Given the description of an element on the screen output the (x, y) to click on. 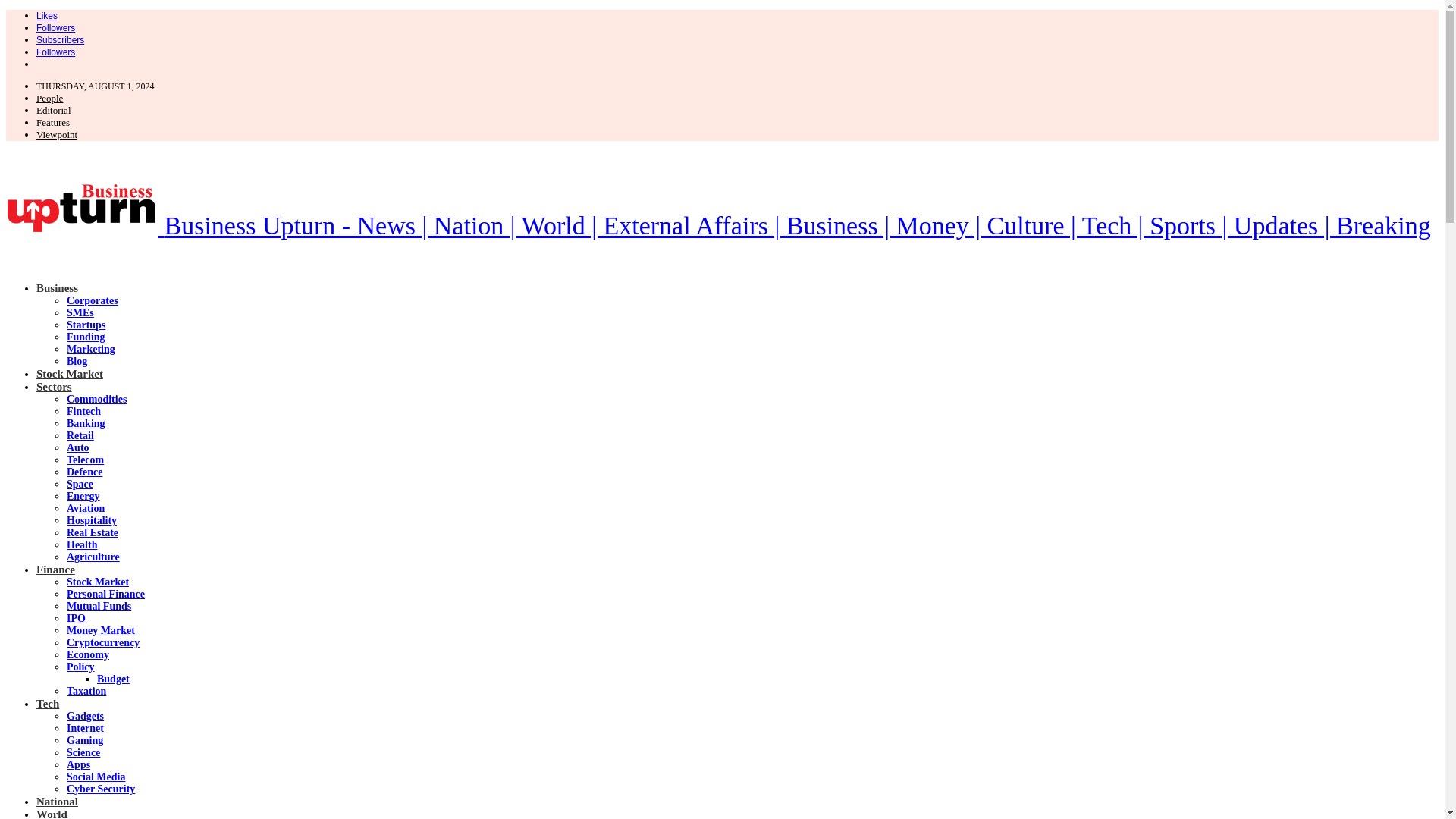
IPO (75, 618)
Energy (83, 496)
Corporates (91, 300)
Defence (83, 471)
Cryptocurrency (102, 642)
Retail (80, 435)
Funding (85, 337)
Health (81, 544)
Mutual Funds (98, 605)
Business (57, 287)
Commodities (96, 398)
Stock Market (69, 373)
Real Estate (91, 532)
Marketing (90, 348)
Space (79, 483)
